Given the description of an element on the screen output the (x, y) to click on. 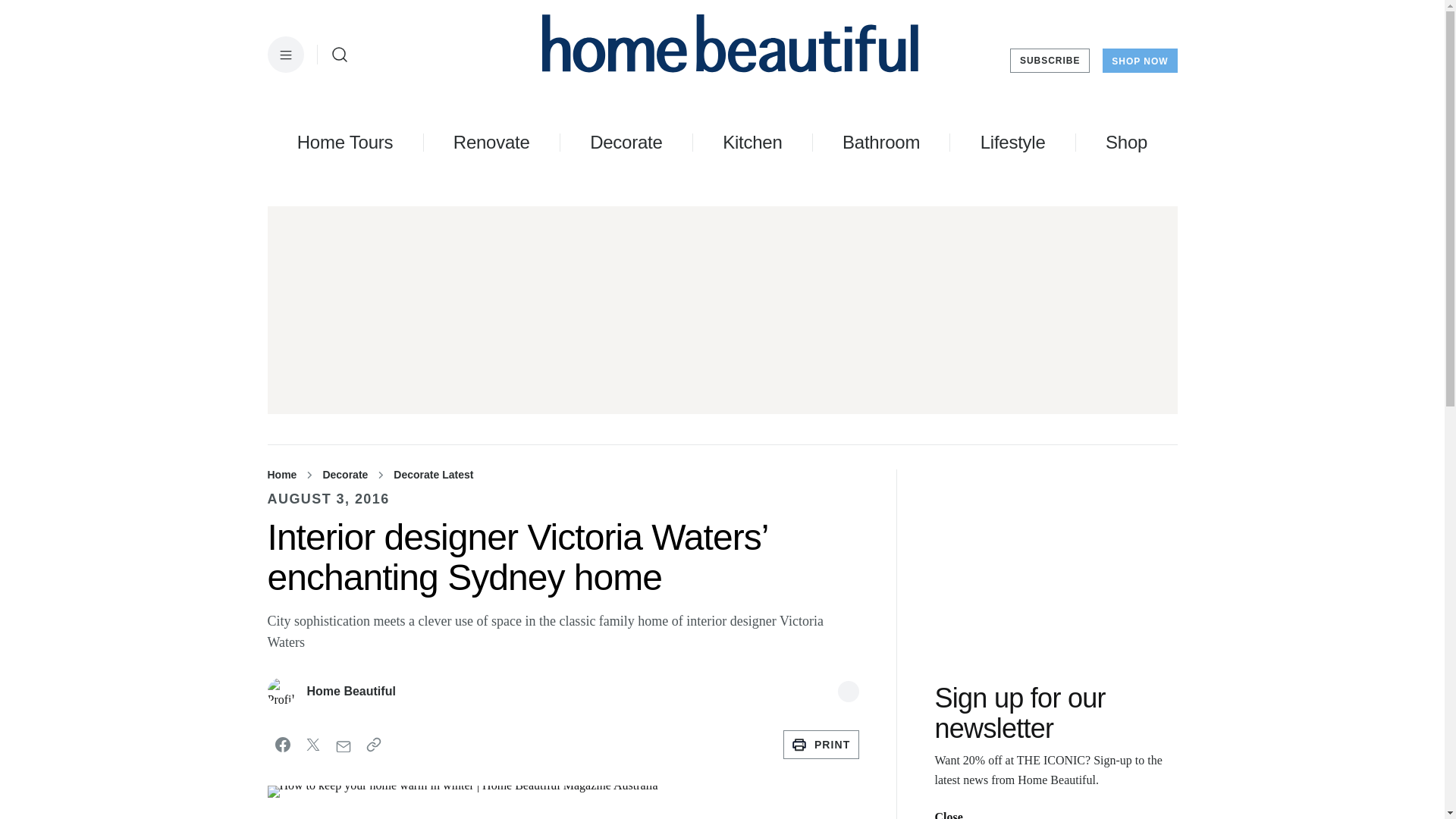
SHOP NOW (1139, 60)
SUBSCRIBE (1049, 60)
Lifestyle (1012, 141)
Decorate (625, 141)
Renovate (490, 141)
Bathroom (881, 141)
Shop (1126, 141)
Home Tours (345, 141)
Kitchen (751, 141)
